Given the description of an element on the screen output the (x, y) to click on. 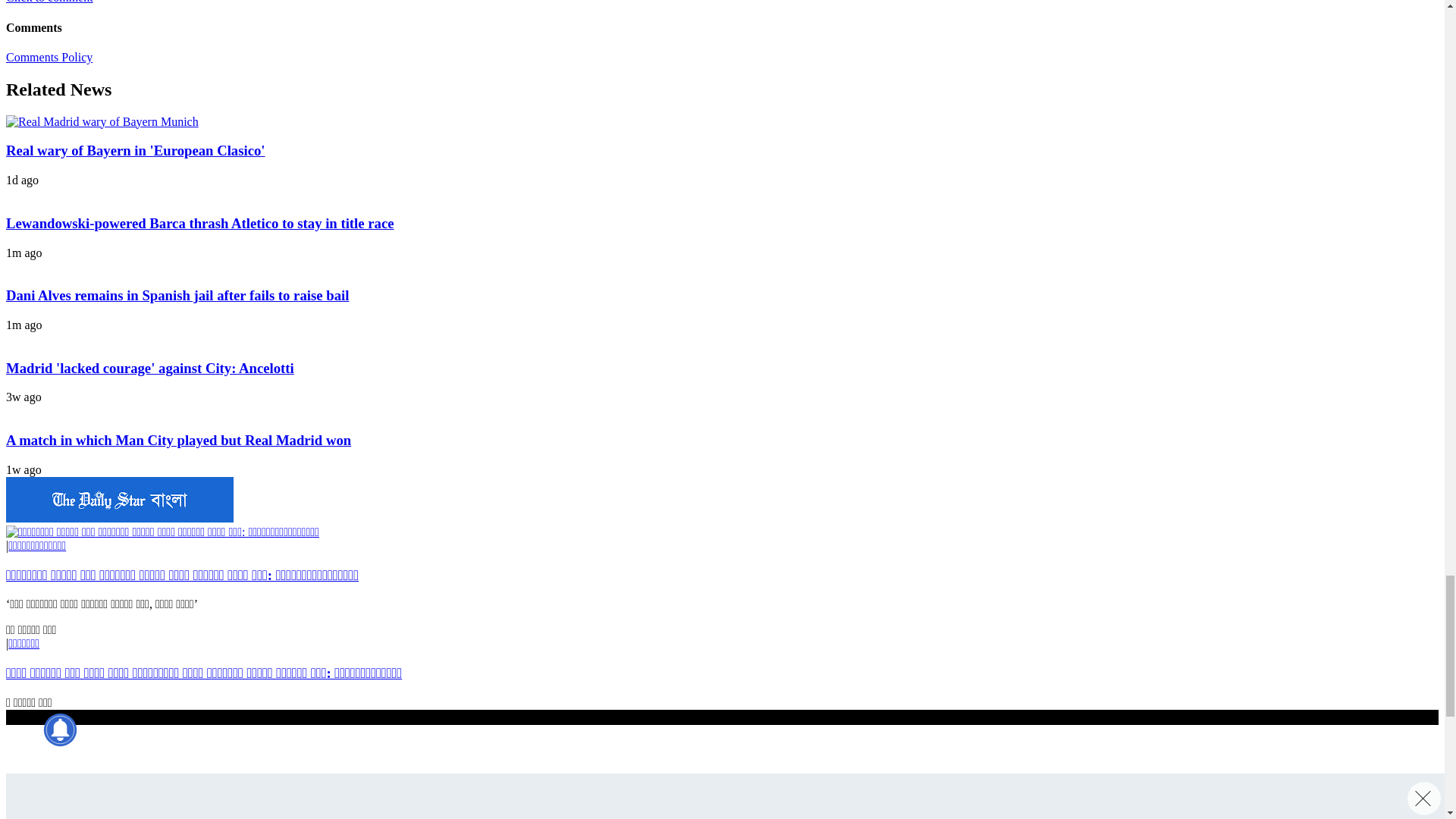
Real Madrid wary of Bayern Munich (101, 121)
Real Madrid wary of Bayern Munich (101, 121)
